Given the description of an element on the screen output the (x, y) to click on. 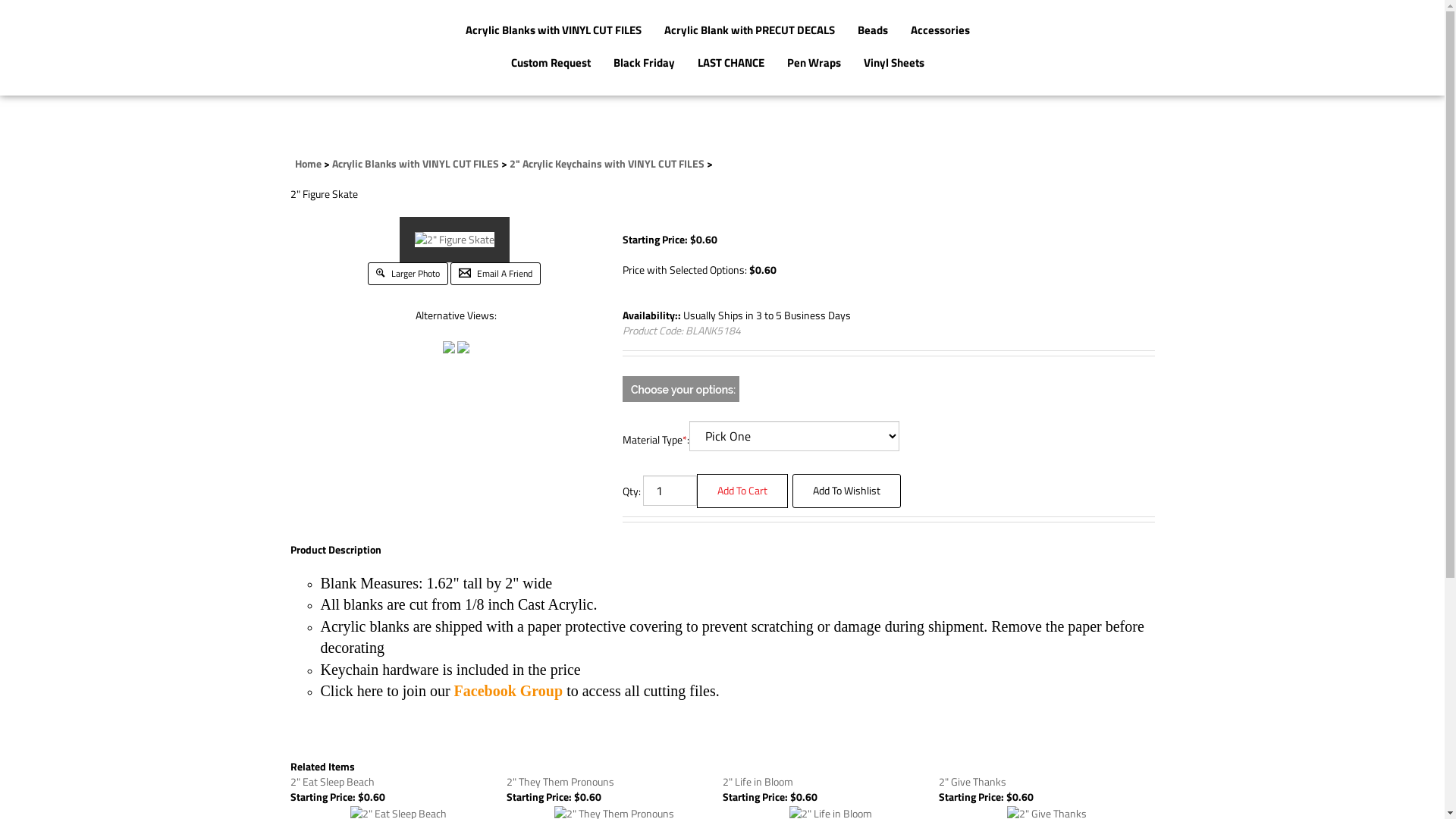
Pen Wraps Element type: text (813, 63)
Vinyl Sheets Element type: text (893, 63)
Acrylic Blank with PRECUT DECALS Element type: text (749, 31)
Black Friday Element type: text (644, 63)
2" Figure Skate Element type: hover (454, 239)
2" Eat Sleep Beach Element type: text (331, 781)
2" Life in Bloom Element type: text (756, 781)
Acrylic Blanks with VINYL CUT FILES Element type: text (553, 31)
Acrylic Blanks with VINYL CUT FILES Element type: text (415, 163)
Product Description Element type: text (334, 549)
Custom Request Element type: text (550, 63)
Add To Cart Element type: text (741, 490)
Facebook Group Element type: text (508, 690)
Quantity Element type: hover (669, 490)
2" They Them Pronouns Element type: text (560, 781)
2" Give Thanks Element type: text (972, 781)
Larger Photo Element type: text (407, 271)
LAST CHANCE Element type: text (730, 63)
Home Element type: text (307, 163)
2" Figure Skate Element type: hover (454, 238)
View cart Element type: text (1162, 45)
Add To Wishlist Element type: text (846, 490)
Beads Element type: text (872, 31)
2" Figure Skate Element type: hover (448, 345)
Accessories Element type: text (940, 31)
2" Acrylic Keychains with VINYL CUT FILES Element type: text (606, 163)
2" Figure Skate Element type: hover (463, 345)
Email A Friend Element type: text (495, 271)
